Given the description of an element on the screen output the (x, y) to click on. 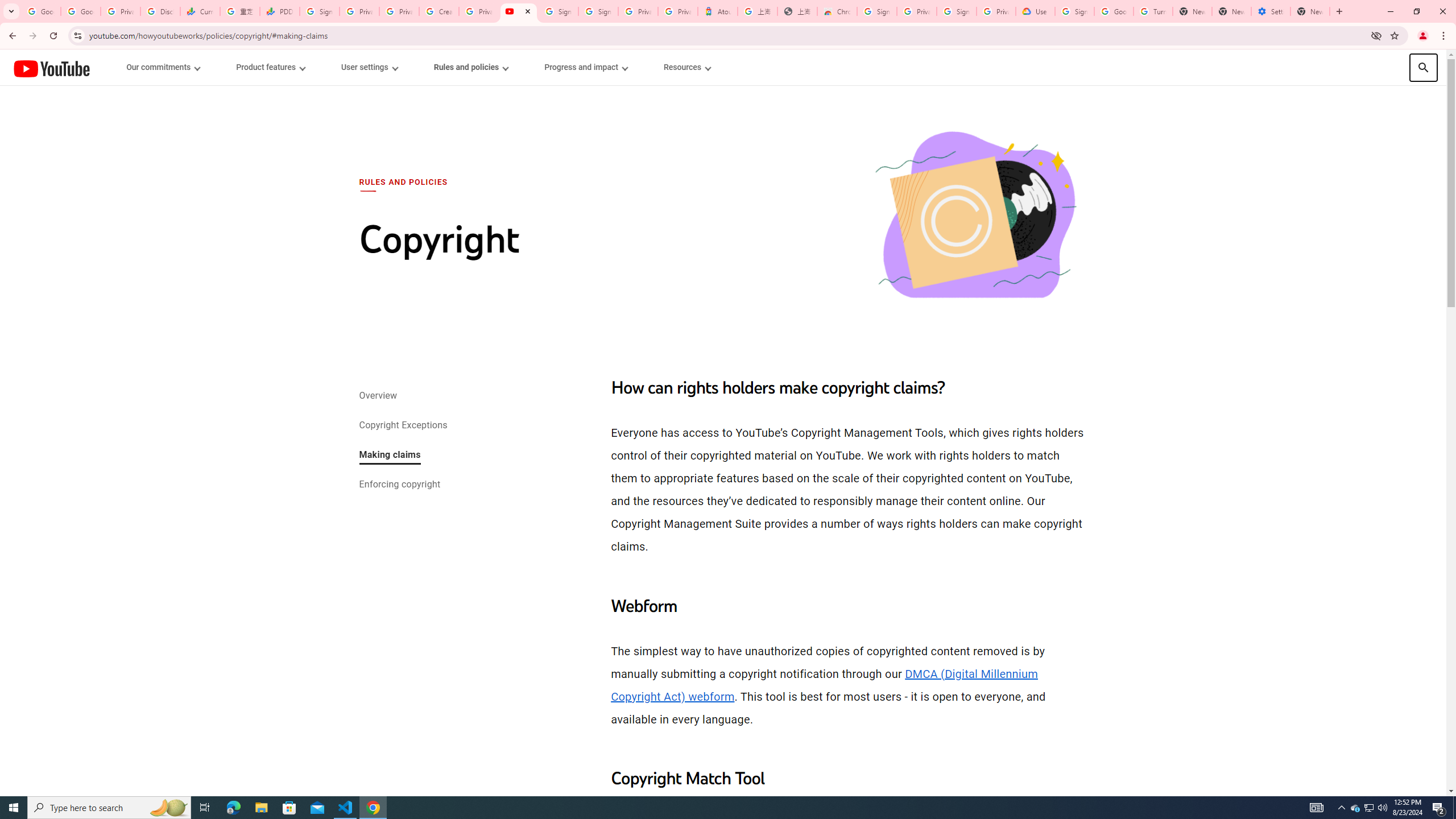
Product features menupopup (269, 67)
Sign in - Google Accounts (956, 11)
Sign in - Google Accounts (1074, 11)
Settings - System (1270, 11)
Create your Google Account (438, 11)
DMCA (Digital Millennium Copyright Act) webform (824, 684)
Currencies - Google Finance (199, 11)
